Given the description of an element on the screen output the (x, y) to click on. 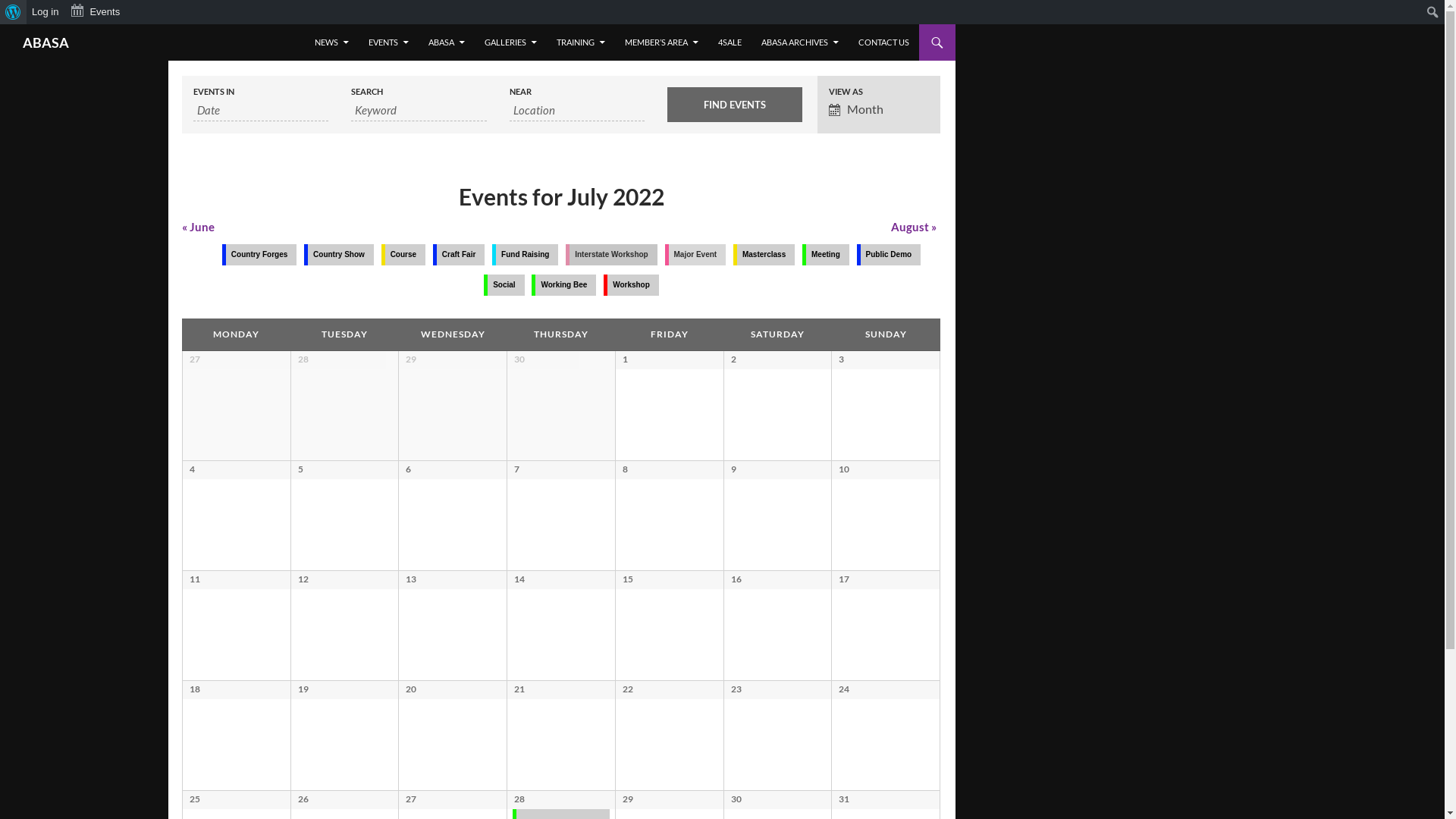
ABASA Element type: text (446, 42)
Find Events Element type: text (734, 104)
ABASA ARCHIVES Element type: text (799, 42)
4SALE Element type: text (729, 42)
CONTACT US Element type: text (883, 42)
Month Element type: text (878, 109)
NEWS Element type: text (331, 42)
Search Element type: text (11, 12)
EVENTS Element type: text (388, 42)
GALLERIES Element type: text (510, 42)
Search Element type: text (3, 24)
SKIP TO CONTENT Element type: text (314, 24)
Log in Element type: text (45, 12)
ABASA Element type: text (45, 42)
28 Element type: text (519, 798)
TRAINING Element type: text (580, 42)
Events Element type: text (94, 12)
